Given the description of an element on the screen output the (x, y) to click on. 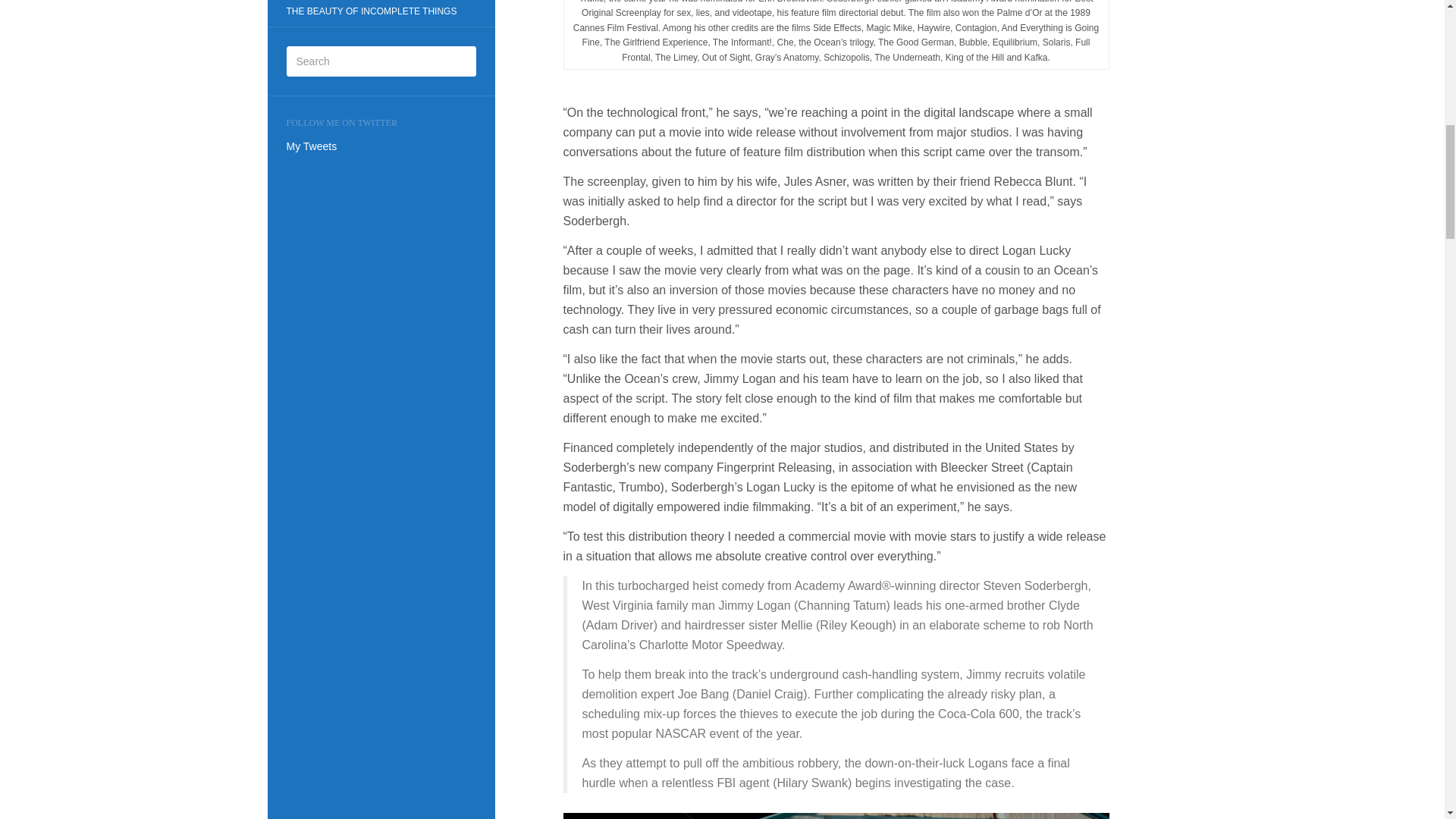
My Tweets (311, 146)
THE BEAUTY OF INCOMPLETE THINGS (371, 12)
